Given the description of an element on the screen output the (x, y) to click on. 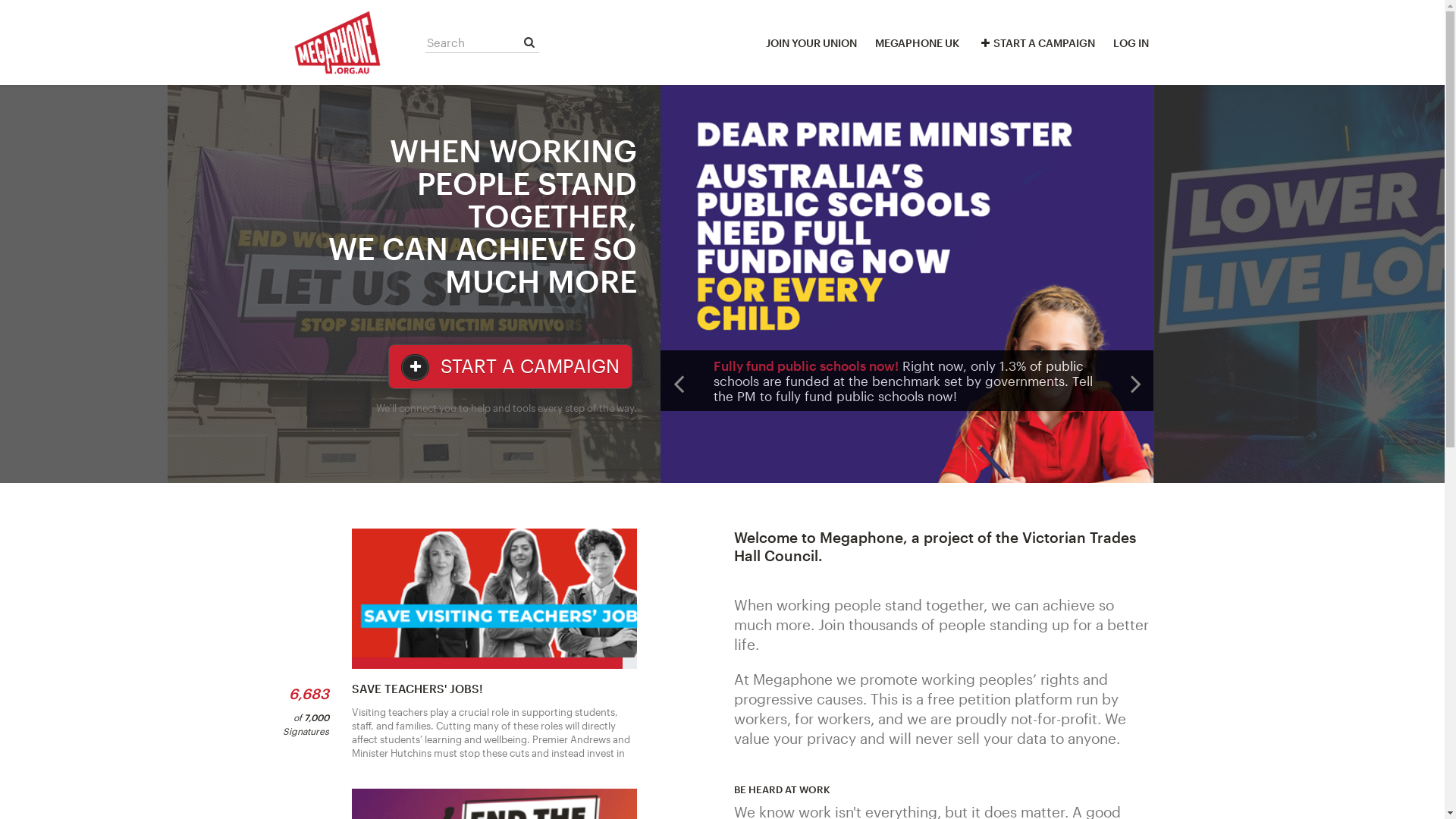
Skip to main content Element type: text (0, 0)
JOIN YOUR UNION Element type: text (810, 42)
LOG IN Element type: text (1130, 42)
MEGAPHONE UK Element type: text (917, 42)
START A CAMPAIGN Element type: text (1035, 42)
START A CAMPAIGN Element type: text (510, 366)
